Given the description of an element on the screen output the (x, y) to click on. 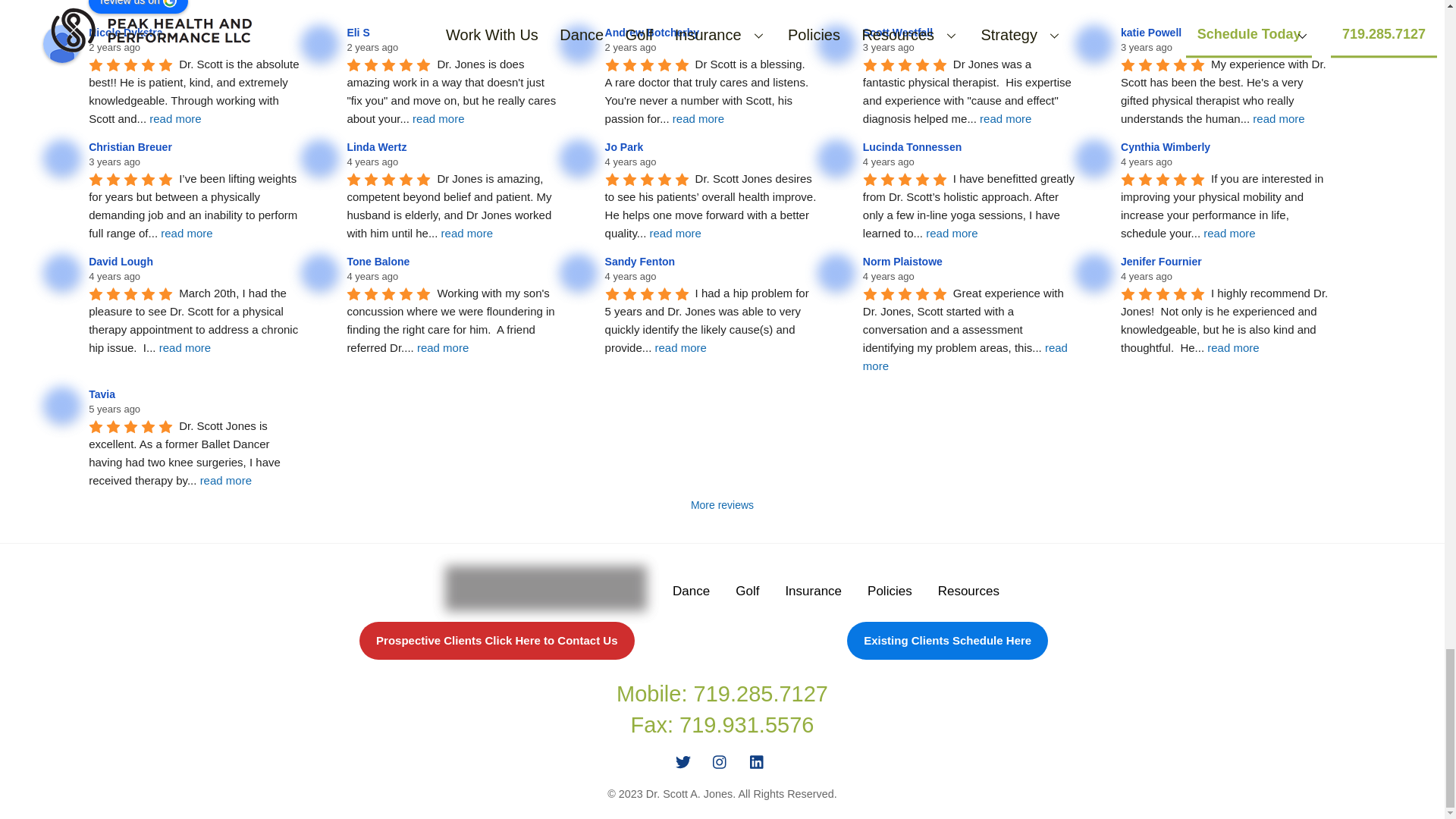
Jo Park (577, 158)
Sandy Fenton (577, 272)
Scott Westfall (900, 32)
Nicole Dykstra (62, 44)
Scott Westfall (836, 44)
Tone Balone (320, 272)
Eli S (320, 44)
Andrew Botcherby (577, 44)
Lucinda Tonnessen (836, 158)
Linda Wertz (320, 158)
Cynthia Wimberly (1094, 158)
katie Powell (1153, 32)
Eli S (360, 32)
Christian Breuer (132, 146)
Andrew Botcherby (654, 32)
